Given the description of an element on the screen output the (x, y) to click on. 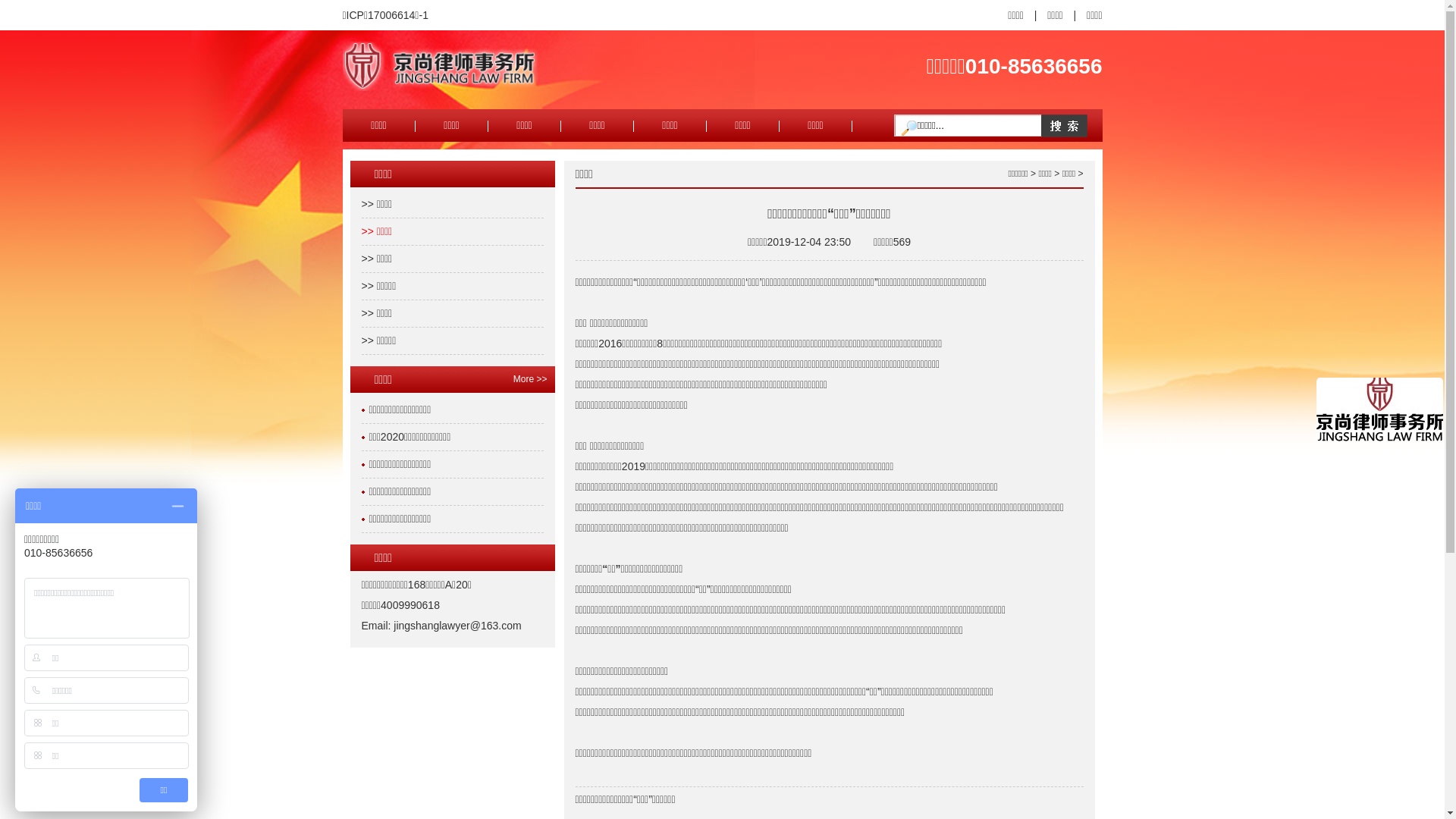
More >> Element type: text (518, 379)
